Given the description of an element on the screen output the (x, y) to click on. 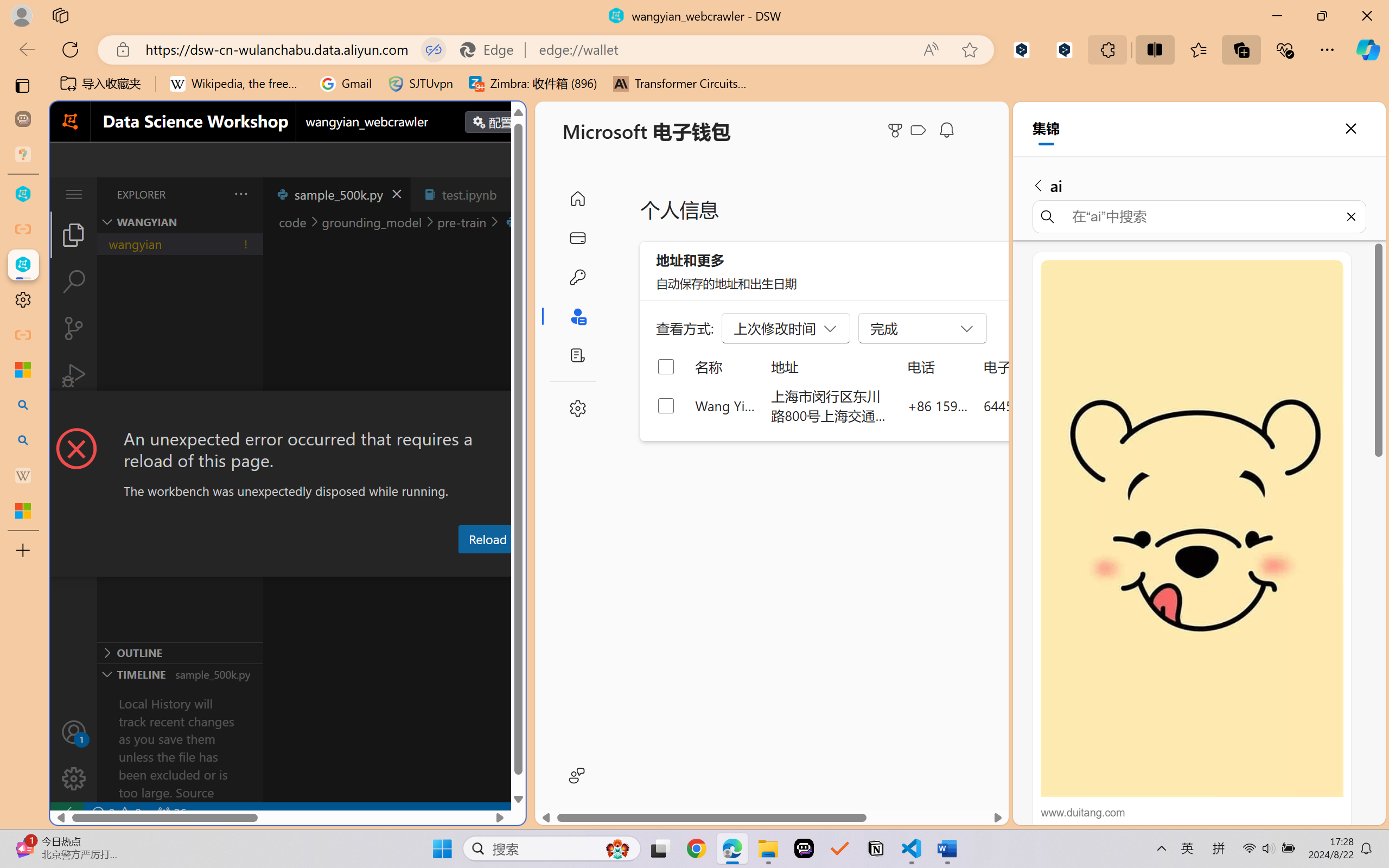
Microsoft Cashback (920, 130)
wangyian_webcrawler - DSW (22, 264)
Wang Yian (725, 405)
Explorer actions (212, 194)
Close (Ctrl+F4) (512, 194)
Edge (492, 49)
Class: actions-container (287, 410)
Timeline Section (179, 673)
